Given the description of an element on the screen output the (x, y) to click on. 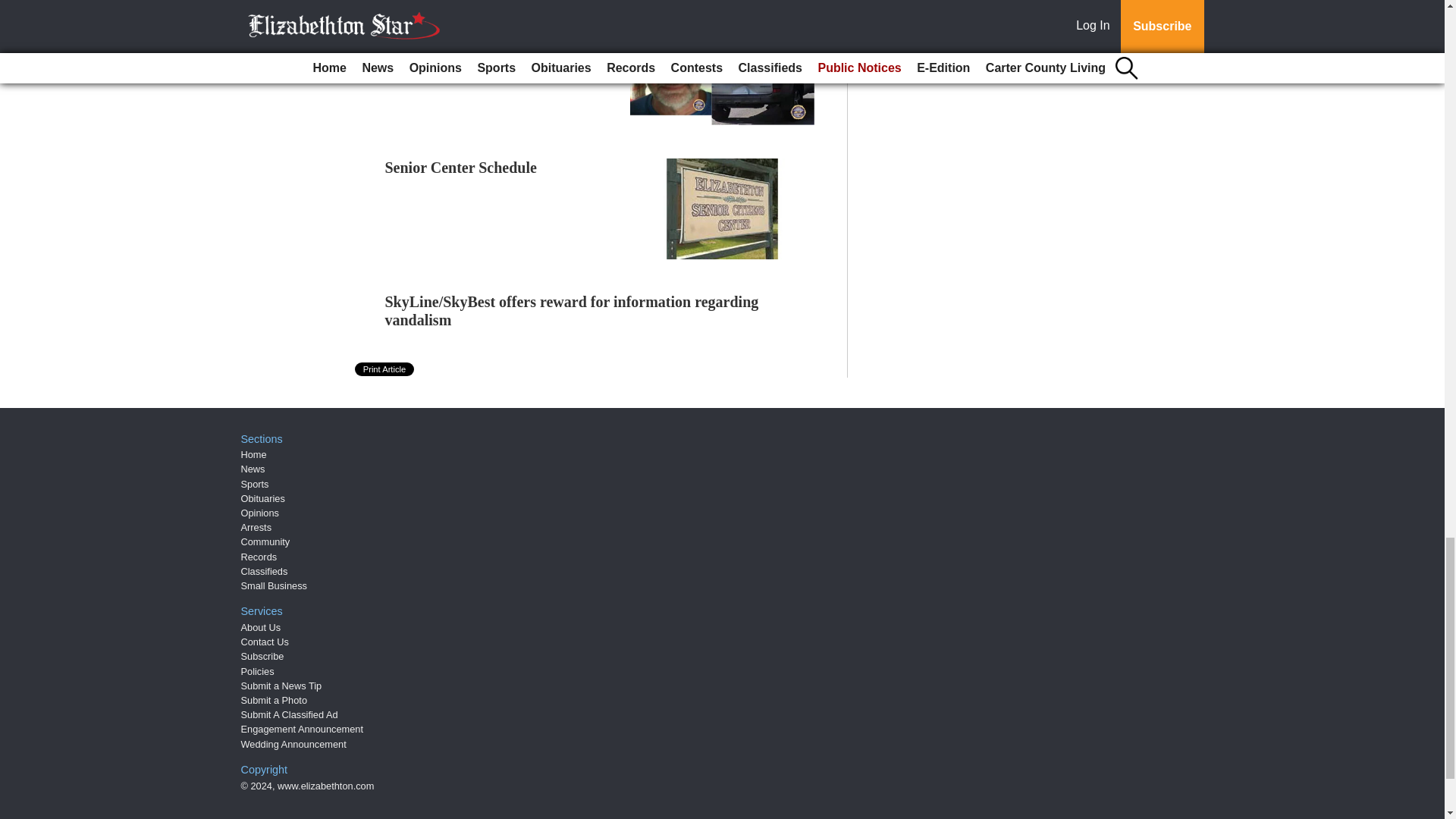
Home (253, 454)
News (252, 469)
Arrests (256, 527)
Senior Center Schedule (461, 167)
Print Article (384, 368)
Obituaries (263, 498)
Sports (255, 483)
Records (259, 556)
Senior Center Schedule (461, 167)
Opinions (260, 512)
Community (265, 541)
